Given the description of an element on the screen output the (x, y) to click on. 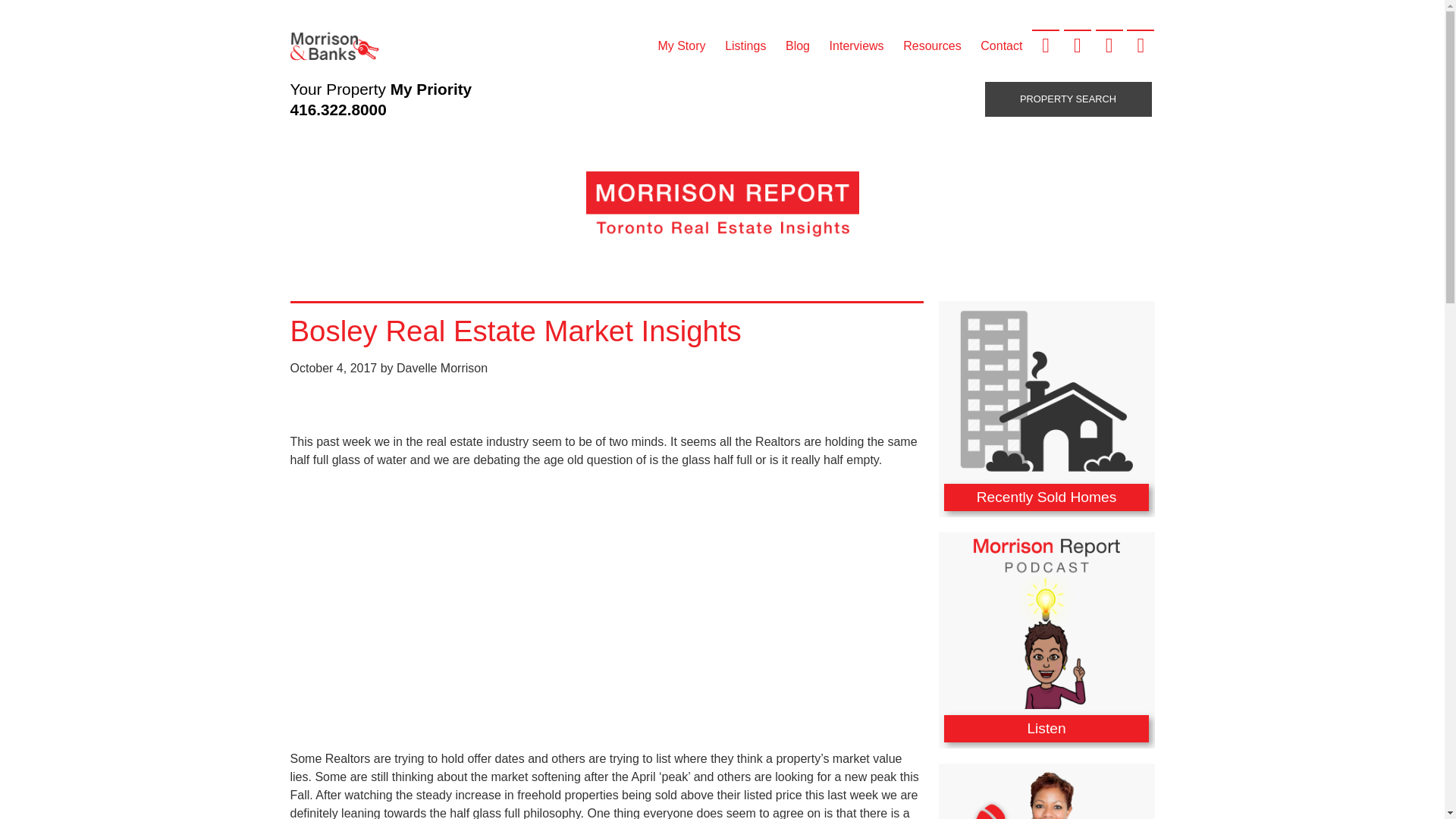
LinkedIn (1109, 43)
Contact (1001, 45)
My Story (681, 45)
Listings (745, 45)
Facebook (1045, 43)
Instagram (1140, 43)
Twitter (1077, 43)
Interviews (856, 45)
Resources (932, 45)
